Given the description of an element on the screen output the (x, y) to click on. 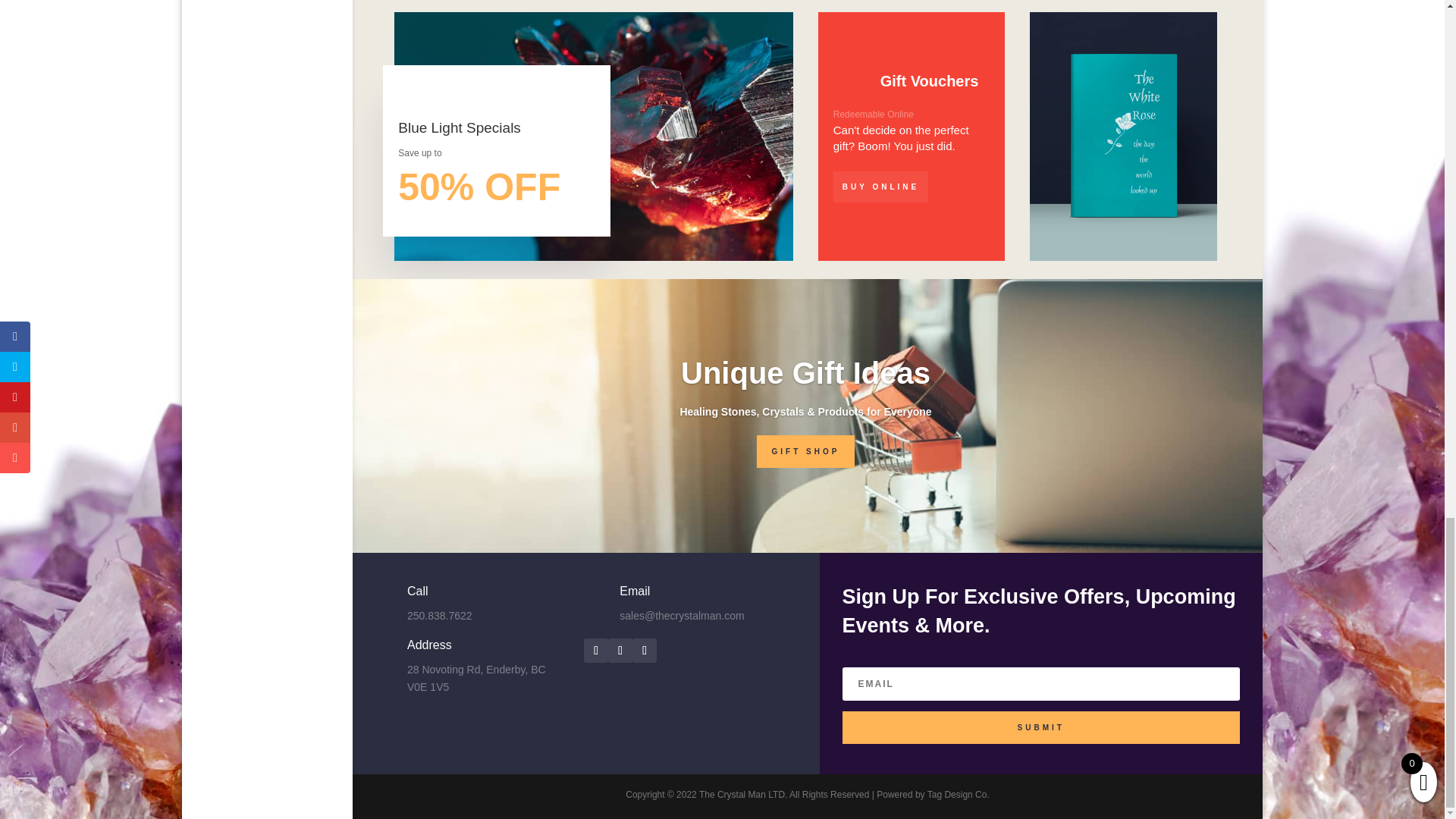
Follow on Pinterest (595, 650)
Follow on Instagram (643, 650)
Follow on Facebook (619, 650)
